Given the description of an element on the screen output the (x, y) to click on. 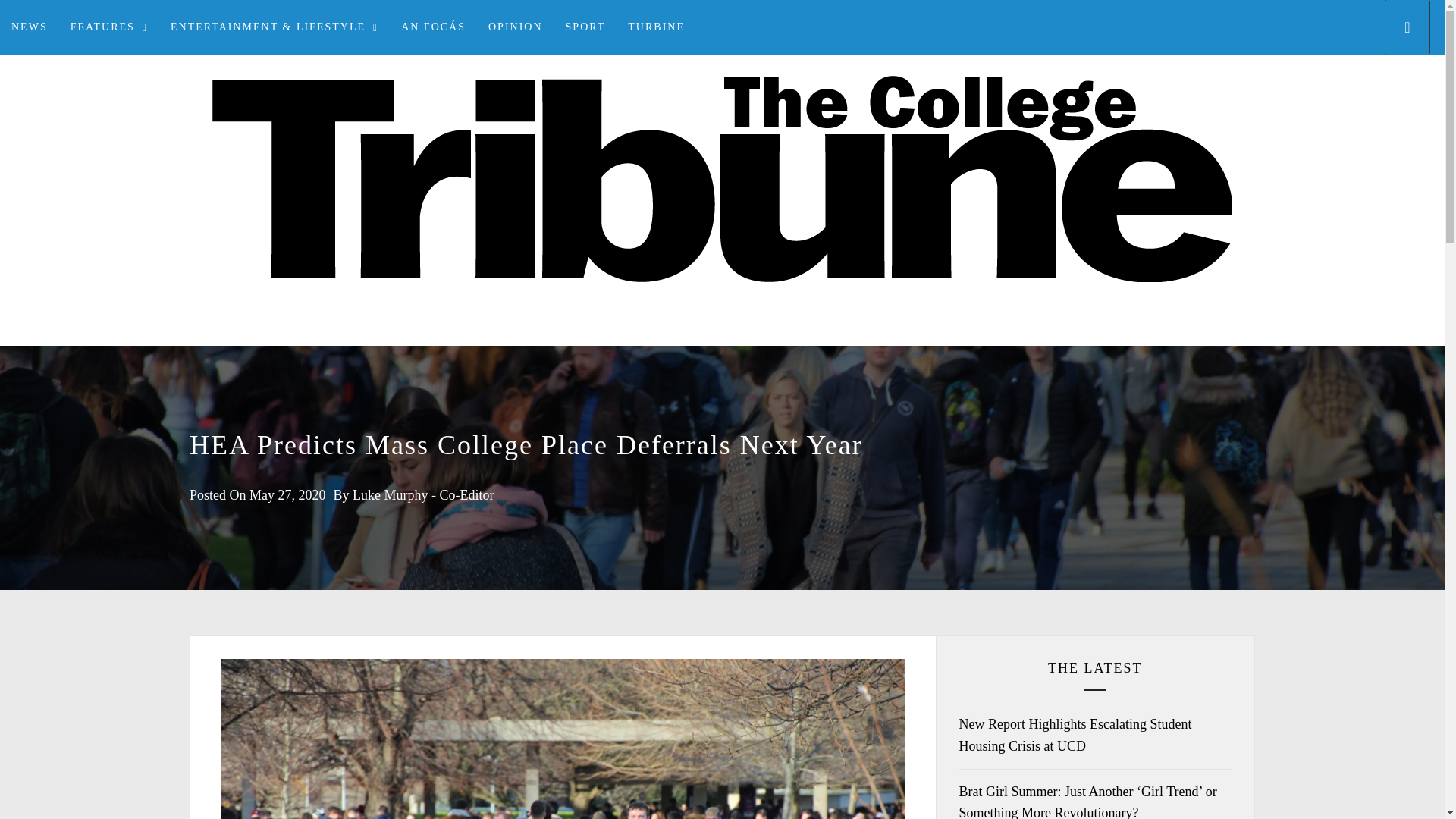
SPORT (585, 27)
TURBINE (655, 27)
NEWS (29, 27)
COLLEGE TRIBUNE (721, 344)
Search (797, 407)
Luke Murphy - Co-Editor (422, 494)
FEATURES (108, 27)
OPINION (515, 27)
May 27, 2020 (287, 494)
